Given the description of an element on the screen output the (x, y) to click on. 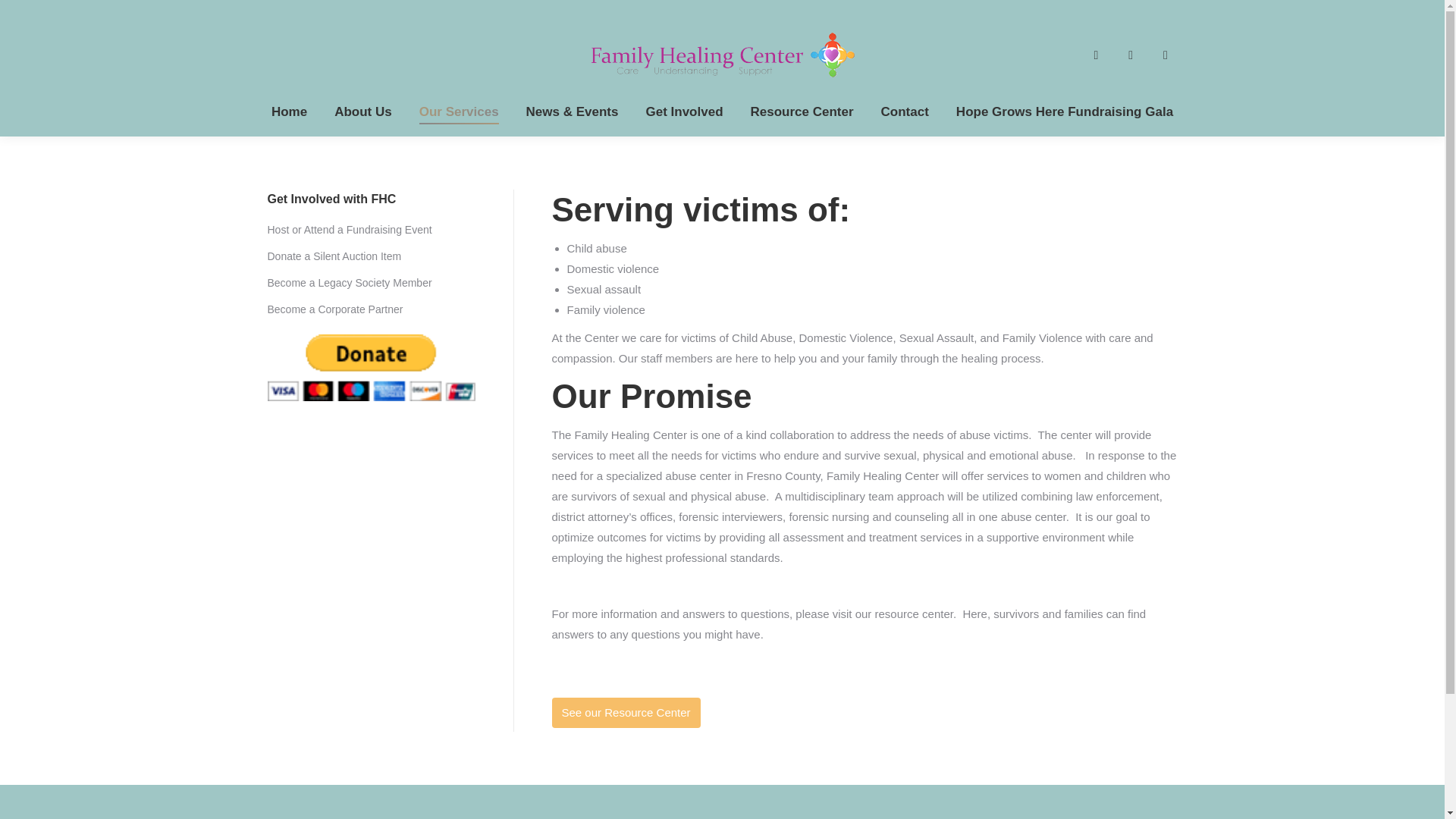
Resource Center (802, 111)
Contact (904, 111)
Hope Grows Here Fundraising Gala (1064, 111)
Home (288, 111)
Become a Legacy Society Member (348, 282)
Donate a Silent Auction Item (333, 256)
Get Involved (683, 111)
See our Resource Center (625, 712)
Host or Attend a Fundraising Event (348, 229)
About Us (362, 111)
